Given the description of an element on the screen output the (x, y) to click on. 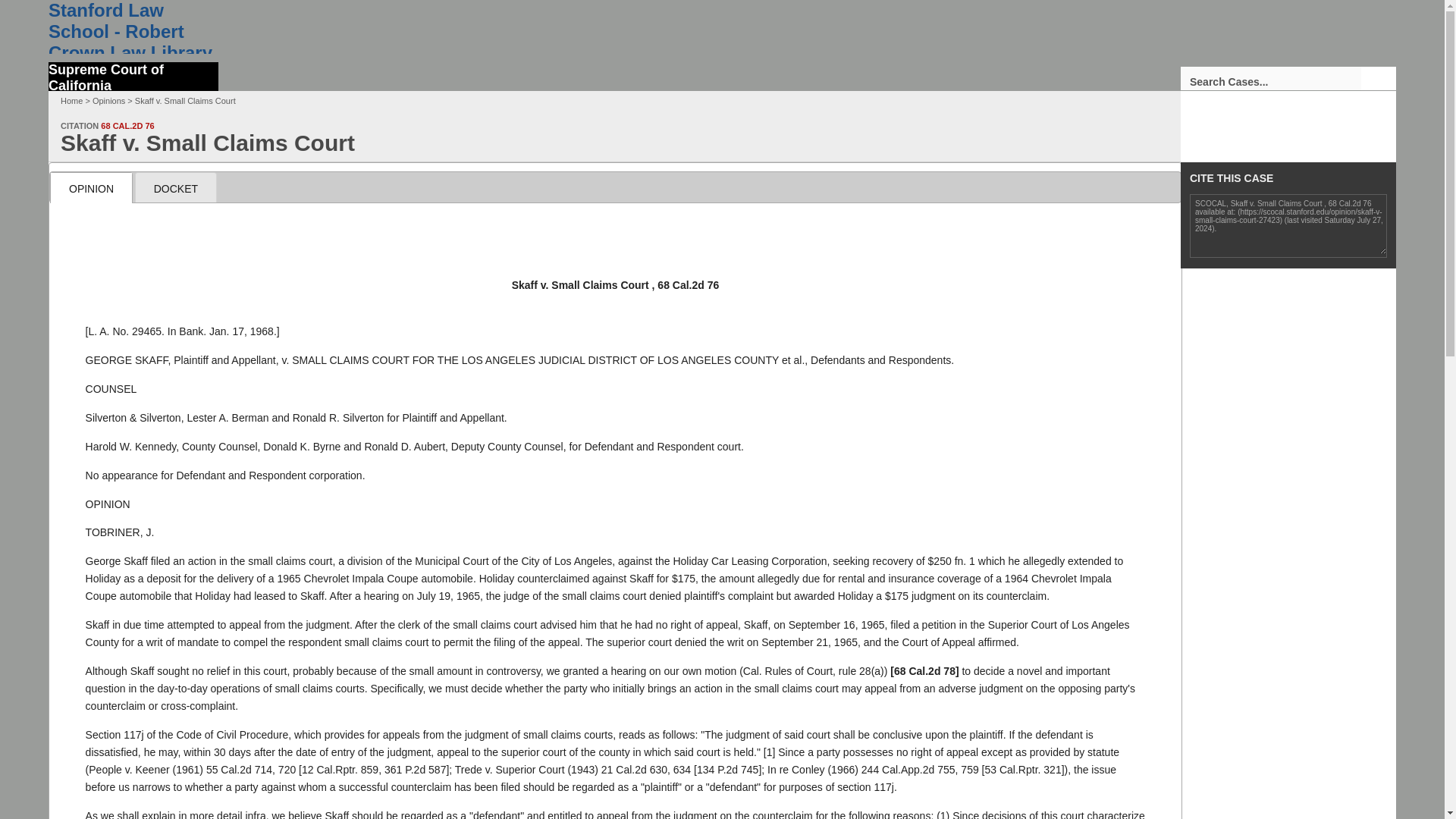
fn. 1 (965, 561)
Search (1378, 78)
Supreme Court of California (133, 76)
Search Cases... (1270, 78)
Trede v. Superior Court (633, 769)
Opinions (109, 100)
People v. Keener (239, 769)
OPINION (91, 187)
Search Cases... (1270, 78)
21 Cal.2d 630 (633, 769)
Stanford Law School - Robert Crown Law Library (133, 27)
Search (1378, 78)
DOCKET (175, 187)
Home (71, 100)
55 Cal.2d 714 (239, 769)
